Given the description of an element on the screen output the (x, y) to click on. 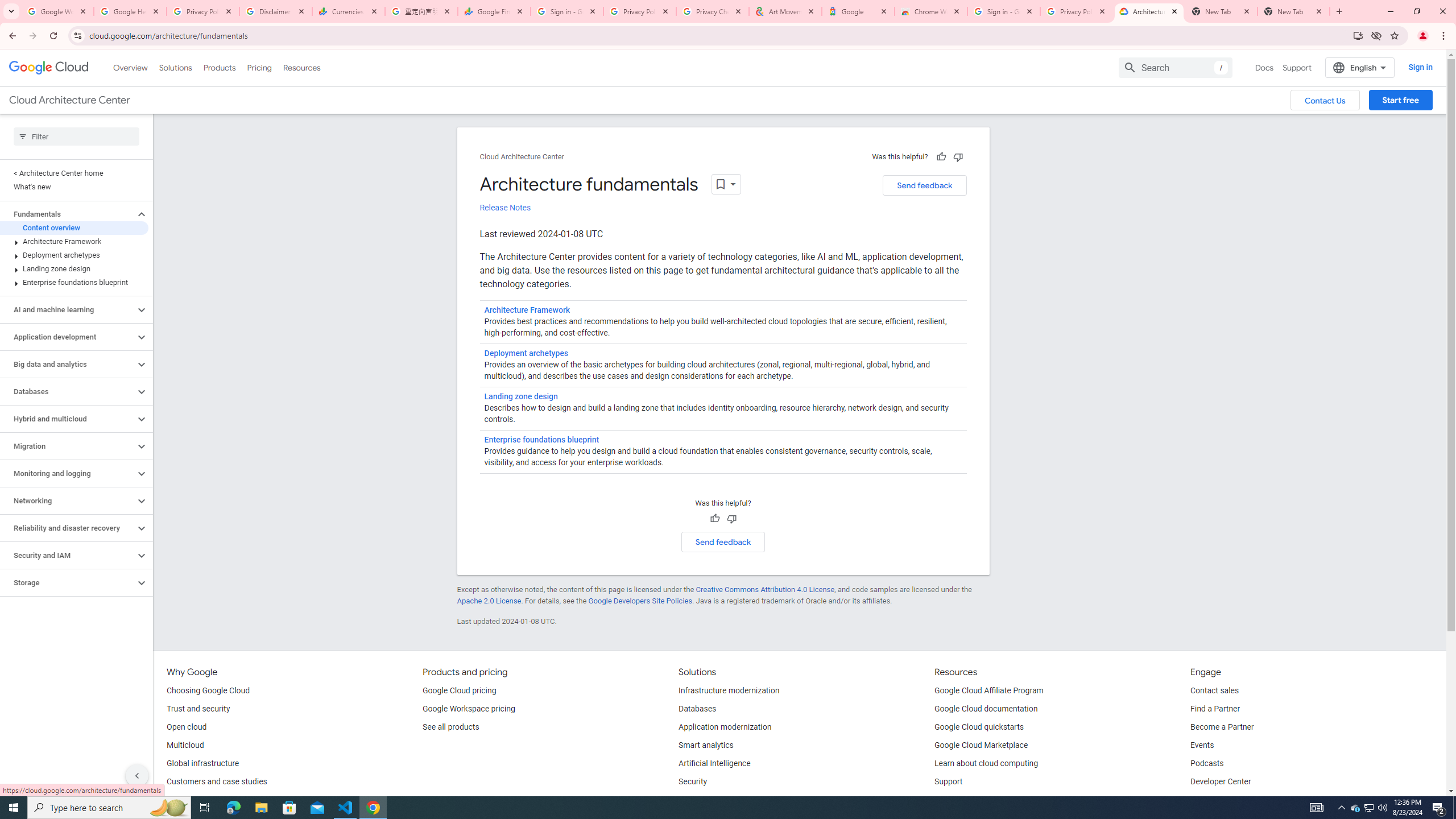
< Architecture Center home (74, 173)
Big data and analytics (67, 364)
Security (692, 782)
Google Cloud documentation (986, 709)
Smart analytics (705, 745)
Open dropdown (726, 183)
Google (857, 11)
Analyst reports (193, 800)
Contact sales (1215, 691)
Resources (301, 67)
AI and machine learning (67, 309)
